Given the description of an element on the screen output the (x, y) to click on. 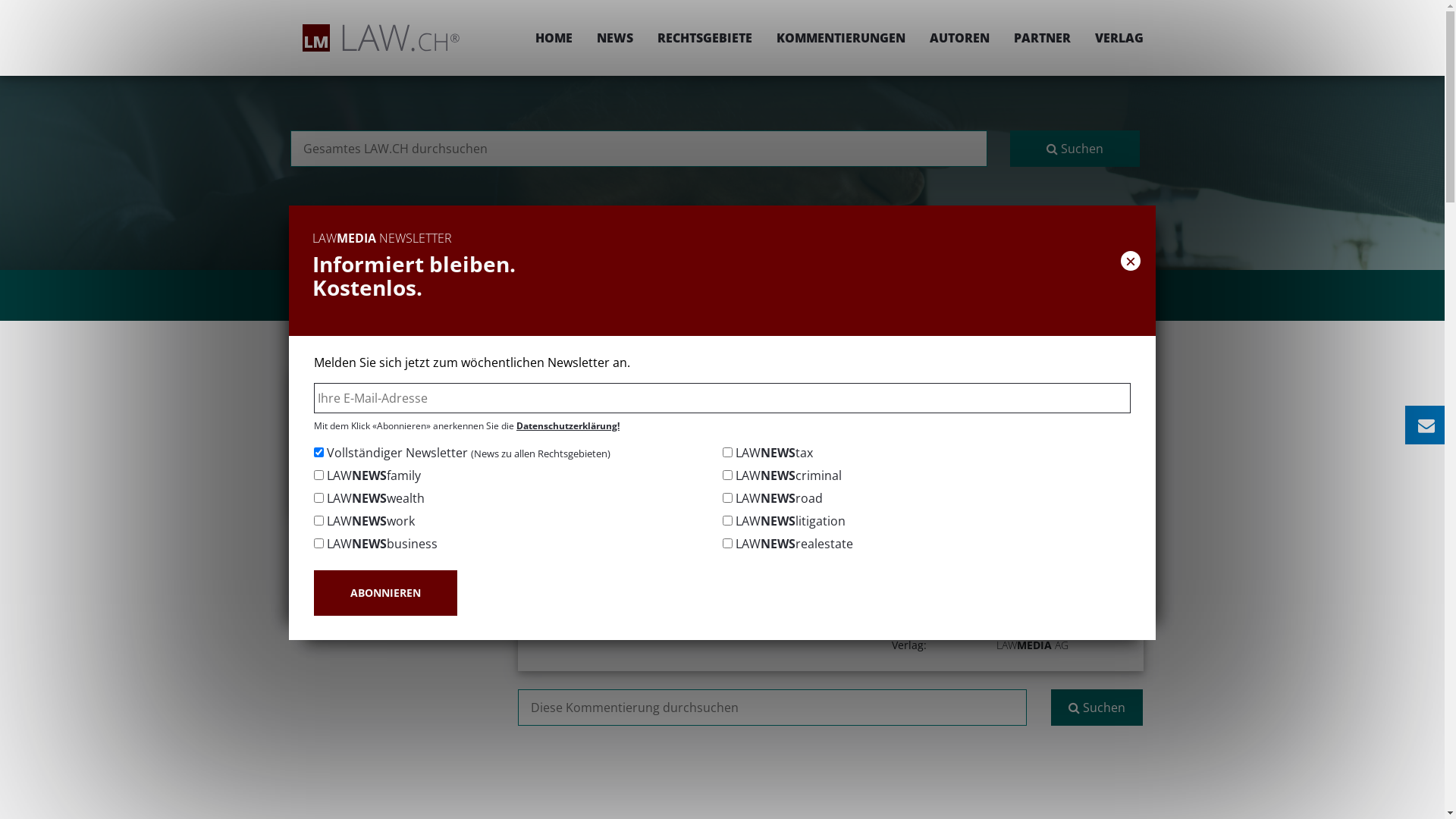
Einleitung zu Churning / Twisting / Overtrading Element type: text (391, 387)
NEWS Element type: text (613, 37)
Home Element type: text (628, 375)
Skip to content Element type: text (1443, 0)
VERLAG Element type: text (1112, 37)
Rechtliche Beurteilung Element type: text (391, 474)
AUTOREN Element type: text (959, 37)
Rechtliche Grundlagen Element type: text (391, 448)
PARTNER Element type: text (1041, 37)
Suchen nach: Element type: hover (637, 148)
Suchen nach: Element type: hover (771, 707)
Inhaltsverzeichnis Element type: text (391, 421)
RECHTSGEBIETE Element type: text (703, 37)
 DRUCKEN / PDF Element type: text (1096, 426)
Problematik Element type: text (391, 501)
    Kontakt Element type: text (391, 544)
KOMMENTIERUNGEN Element type: text (840, 37)
 TEILEN Element type: text (991, 426)
Rechtsgebiete Element type: text (697, 375)
HOME Element type: text (553, 37)
ABONNIEREN Element type: text (385, 592)
